Given the description of an element on the screen output the (x, y) to click on. 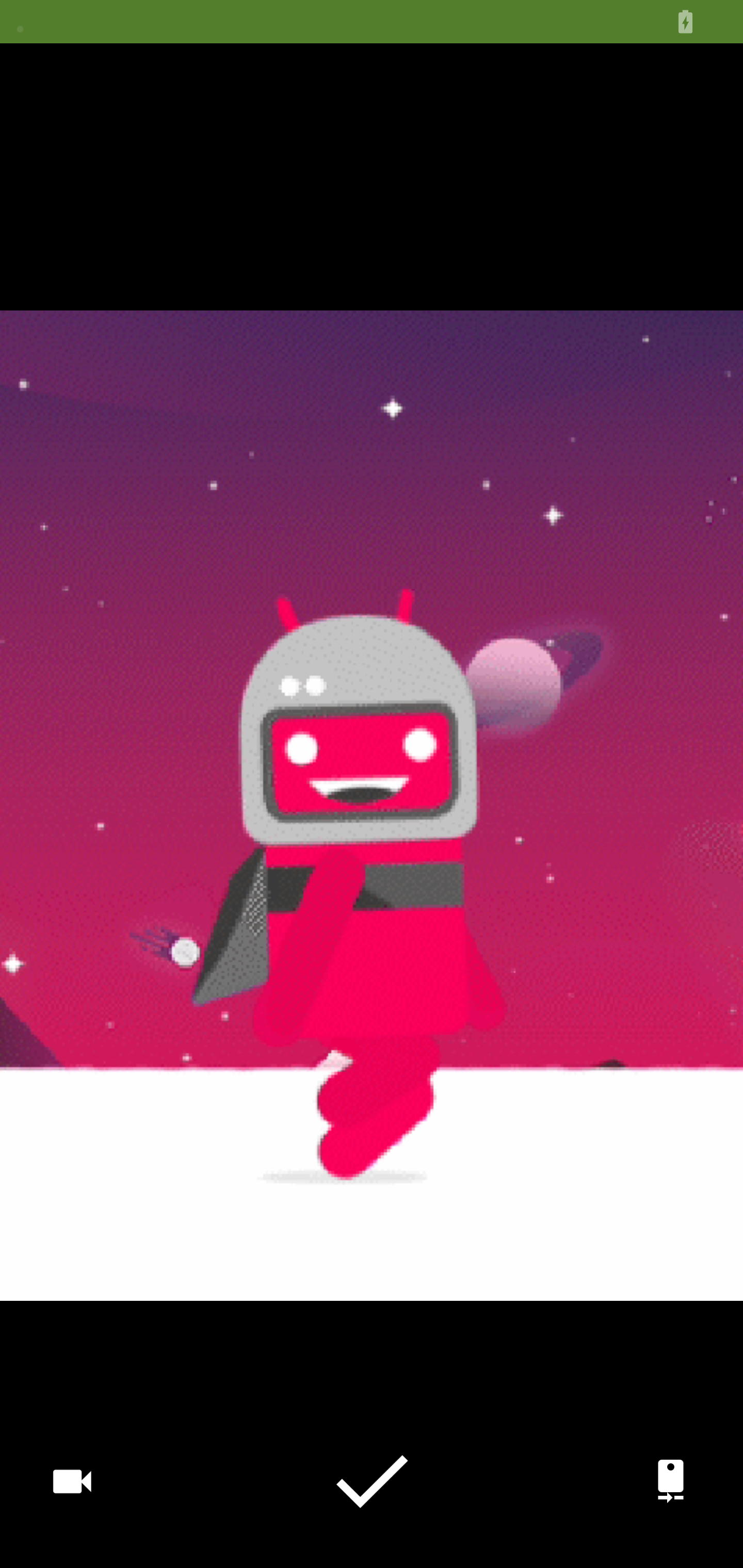
Take picture (371, 1480)
Capture video (71, 1480)
Switch between front and back camera (670, 1480)
